Given the description of an element on the screen output the (x, y) to click on. 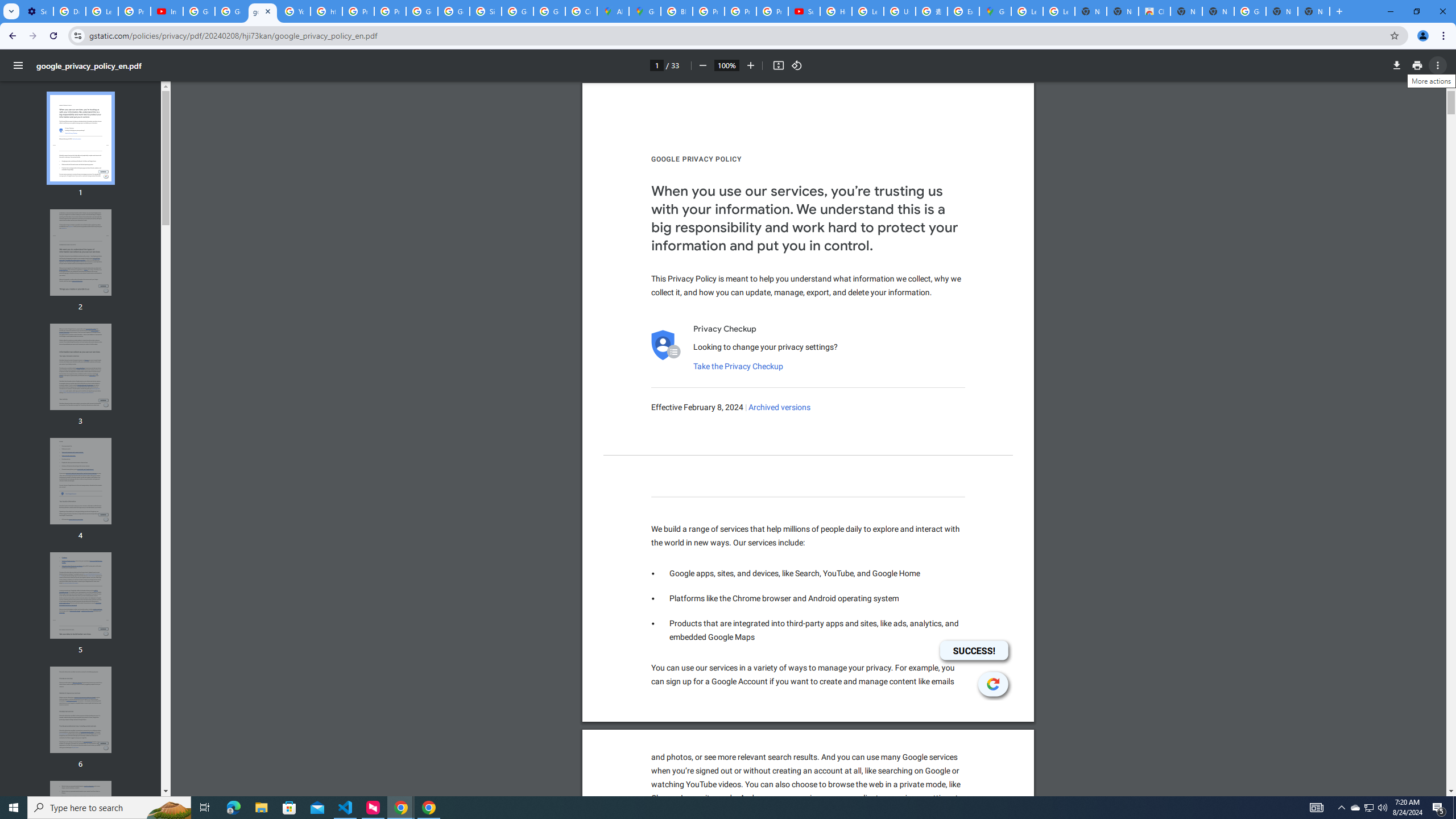
Privacy Help Center - Policies Help (358, 11)
Thumbnail for page 5 (80, 595)
Download (1396, 65)
Thumbnail for page 6 (80, 709)
Settings - Customize profile (37, 11)
Introduction | Google Privacy Policy - YouTube (166, 11)
Rotate counterclockwise (796, 65)
